Given the description of an element on the screen output the (x, y) to click on. 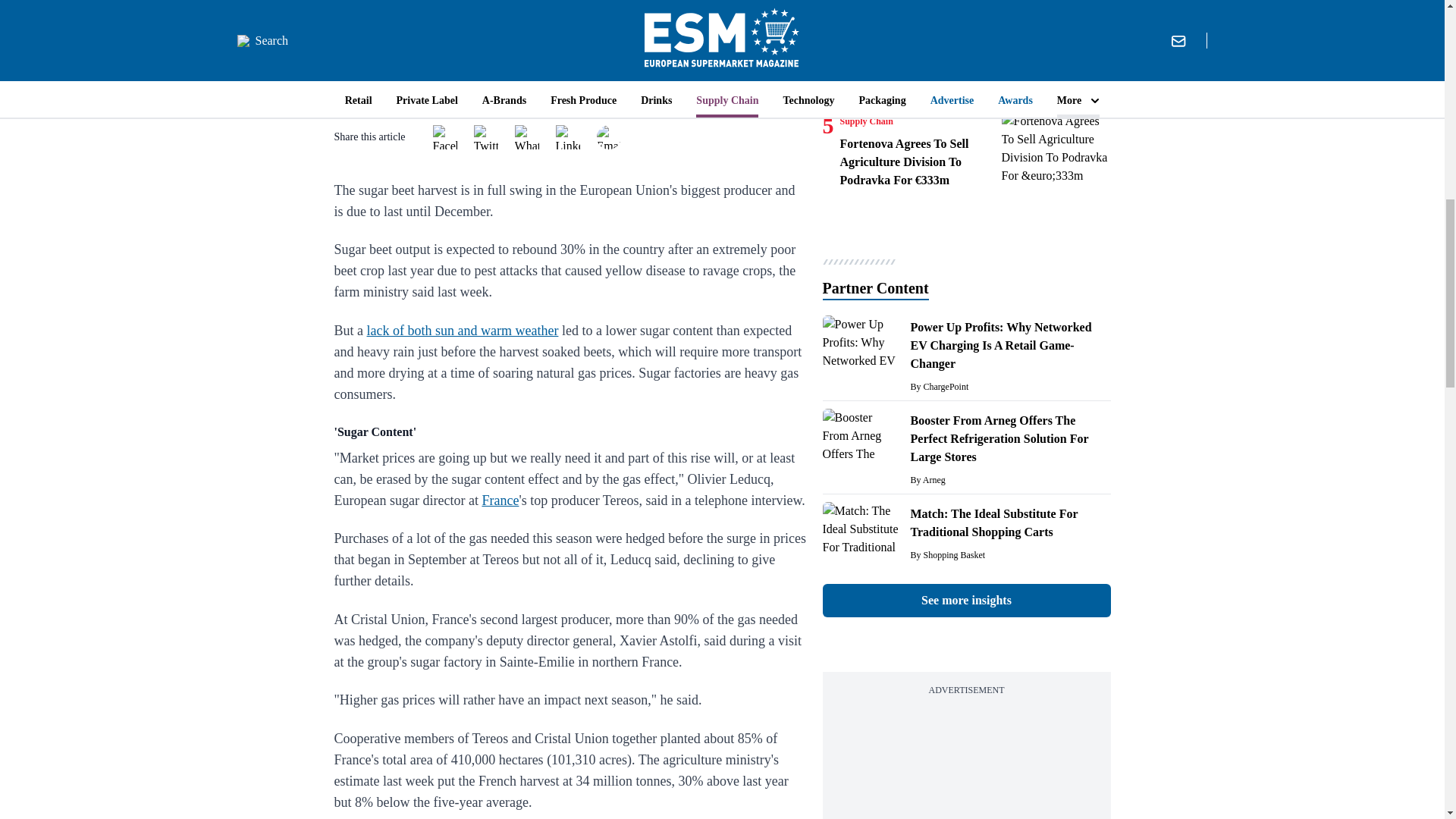
France (499, 500)
